Given the description of an element on the screen output the (x, y) to click on. 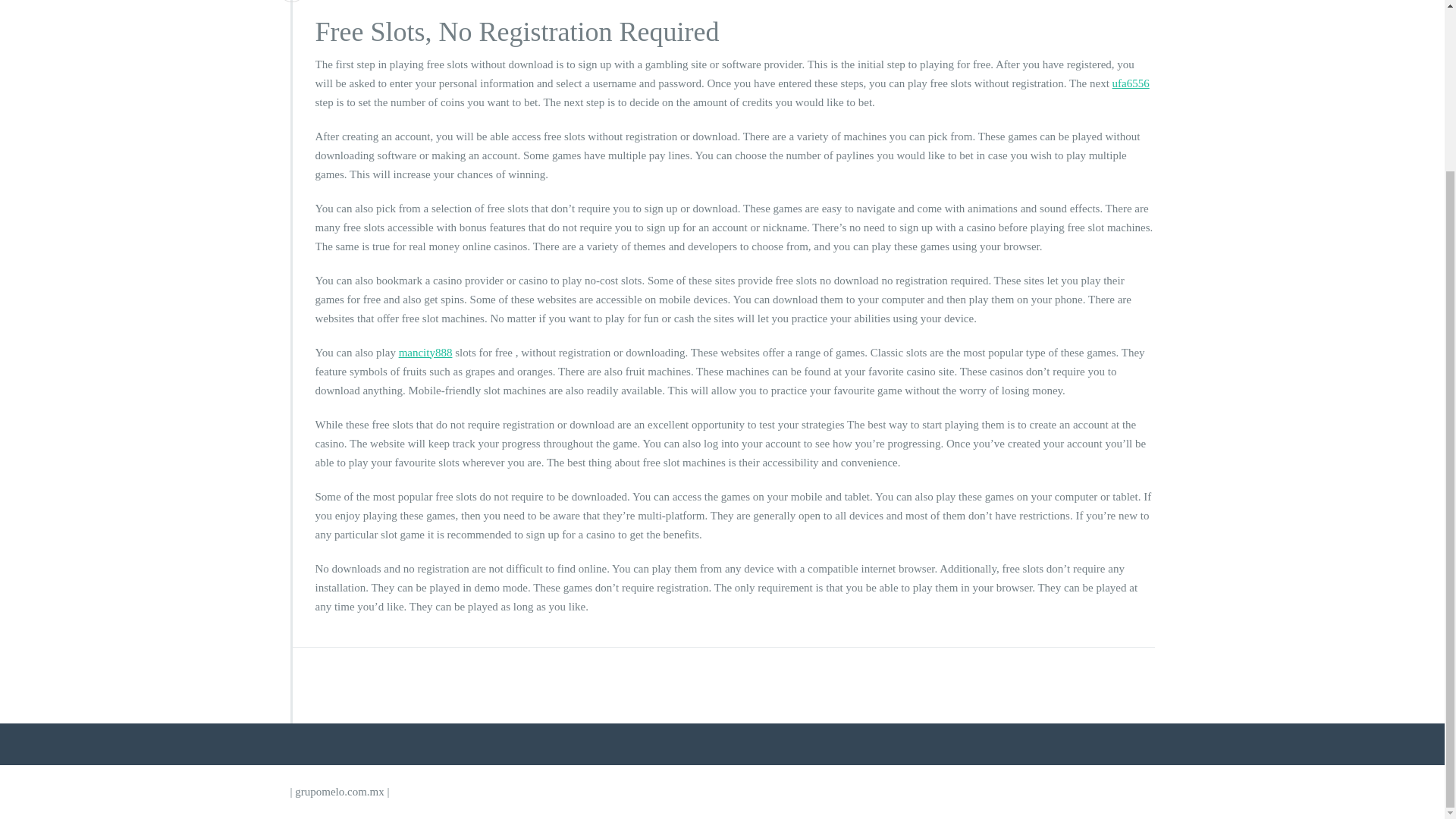
ufa6556 (1131, 82)
mancity888 (425, 352)
